Given the description of an element on the screen output the (x, y) to click on. 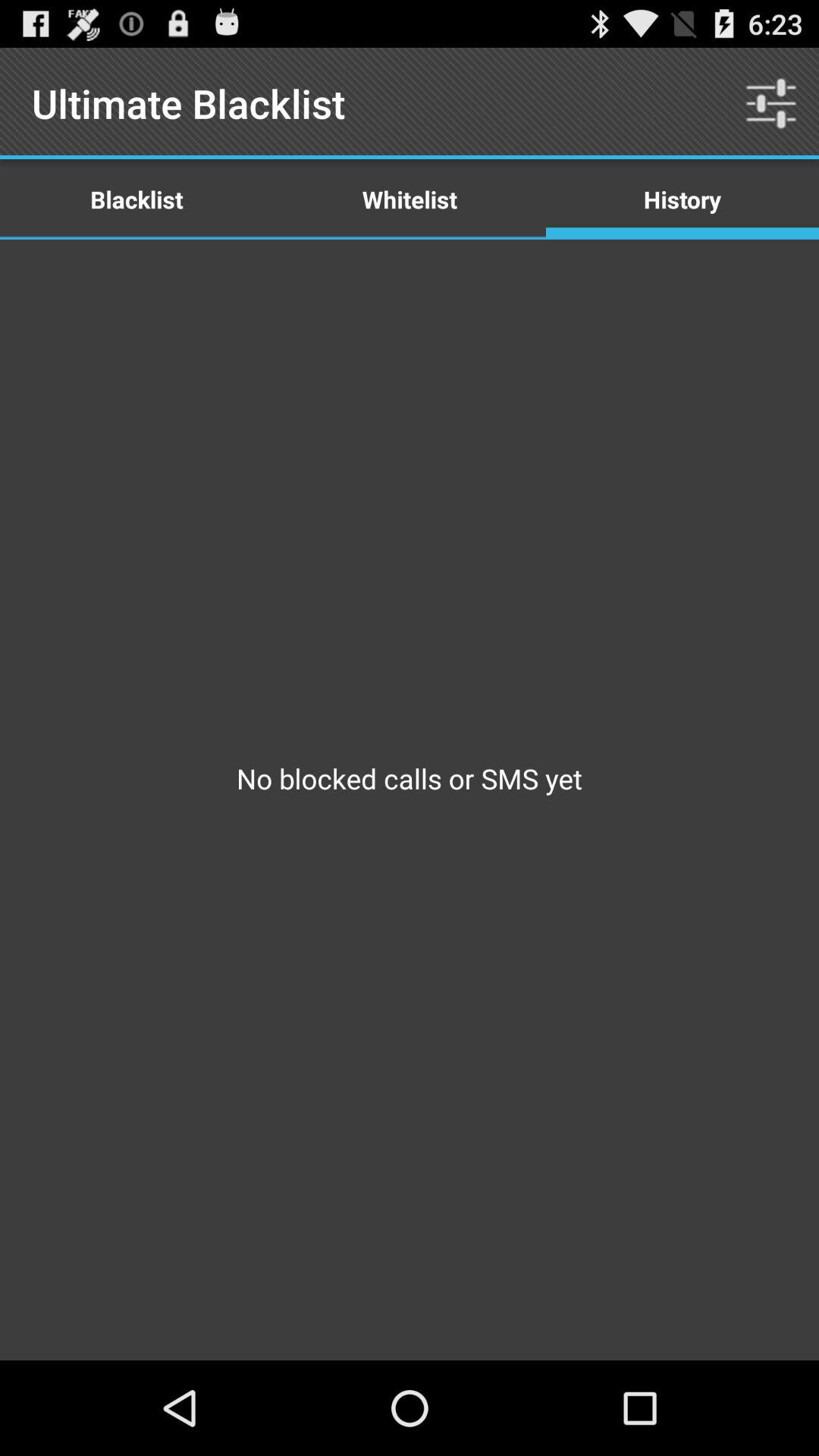
turn on item next to the whitelist item (682, 199)
